Given the description of an element on the screen output the (x, y) to click on. 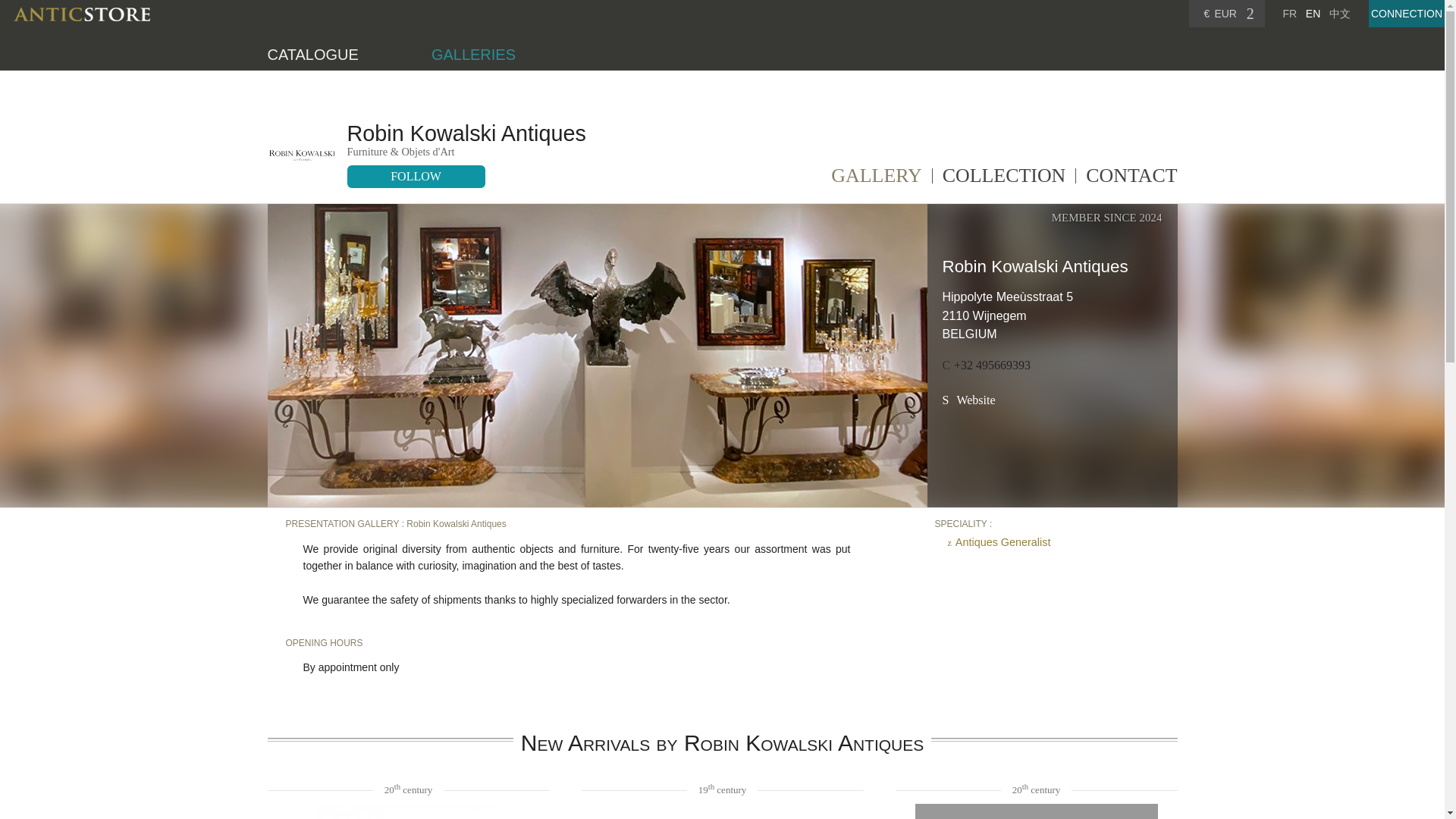
Website (968, 400)
FR (1289, 13)
CATALOGUE (312, 54)
SOLD (1035, 811)
COLLECTION (1003, 180)
CONTACT (1131, 180)
GALLERIES (472, 54)
